Given the description of an element on the screen output the (x, y) to click on. 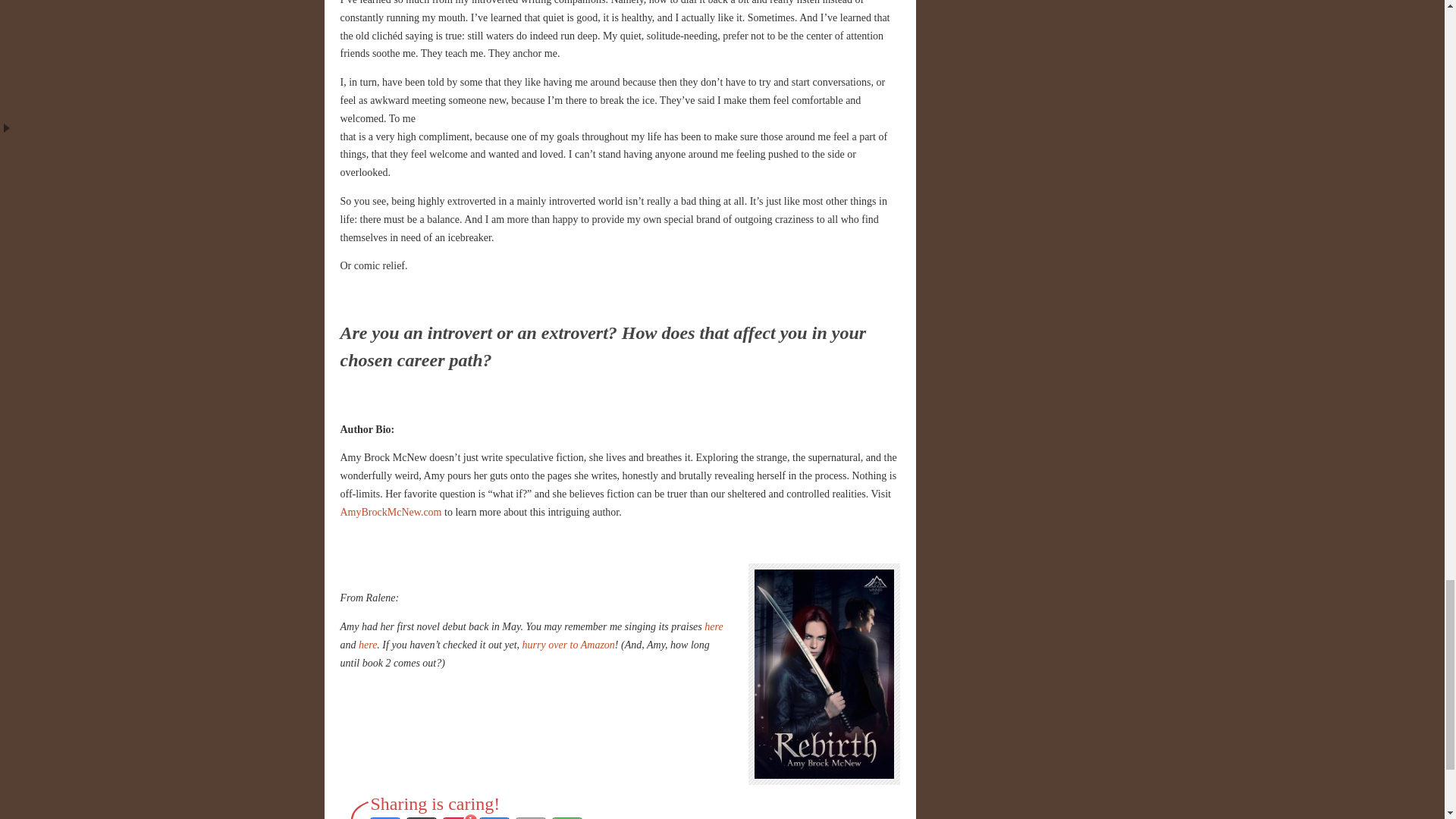
AmyBrockMcNew.com (390, 511)
here (367, 644)
here (713, 626)
